Given the description of an element on the screen output the (x, y) to click on. 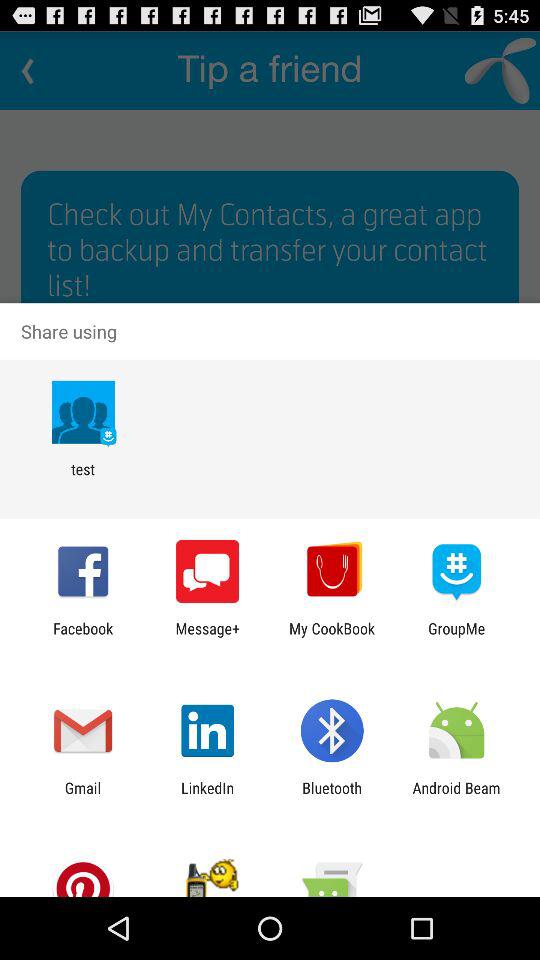
launch android beam item (456, 796)
